Given the description of an element on the screen output the (x, y) to click on. 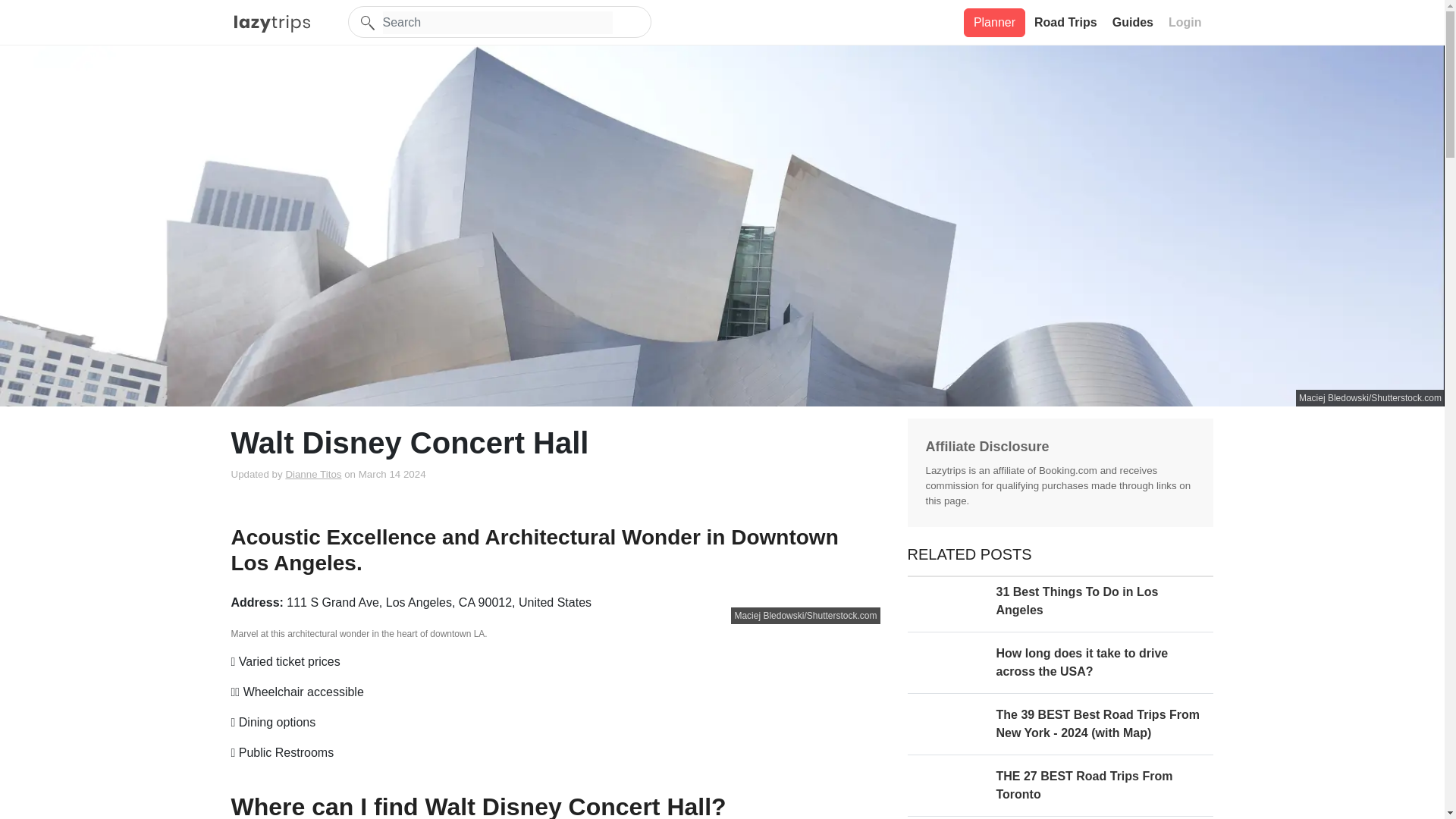
Search (496, 22)
Road Trips (1066, 22)
31 Best Things To Do in Los Angeles (1059, 607)
Dianne Titos (312, 473)
Guides (1133, 22)
THE 27 BEST Road Trips From Toronto (1059, 791)
Login (1187, 22)
How long does it take to drive across the USA? (1059, 668)
Planner (994, 21)
